Given the description of an element on the screen output the (x, y) to click on. 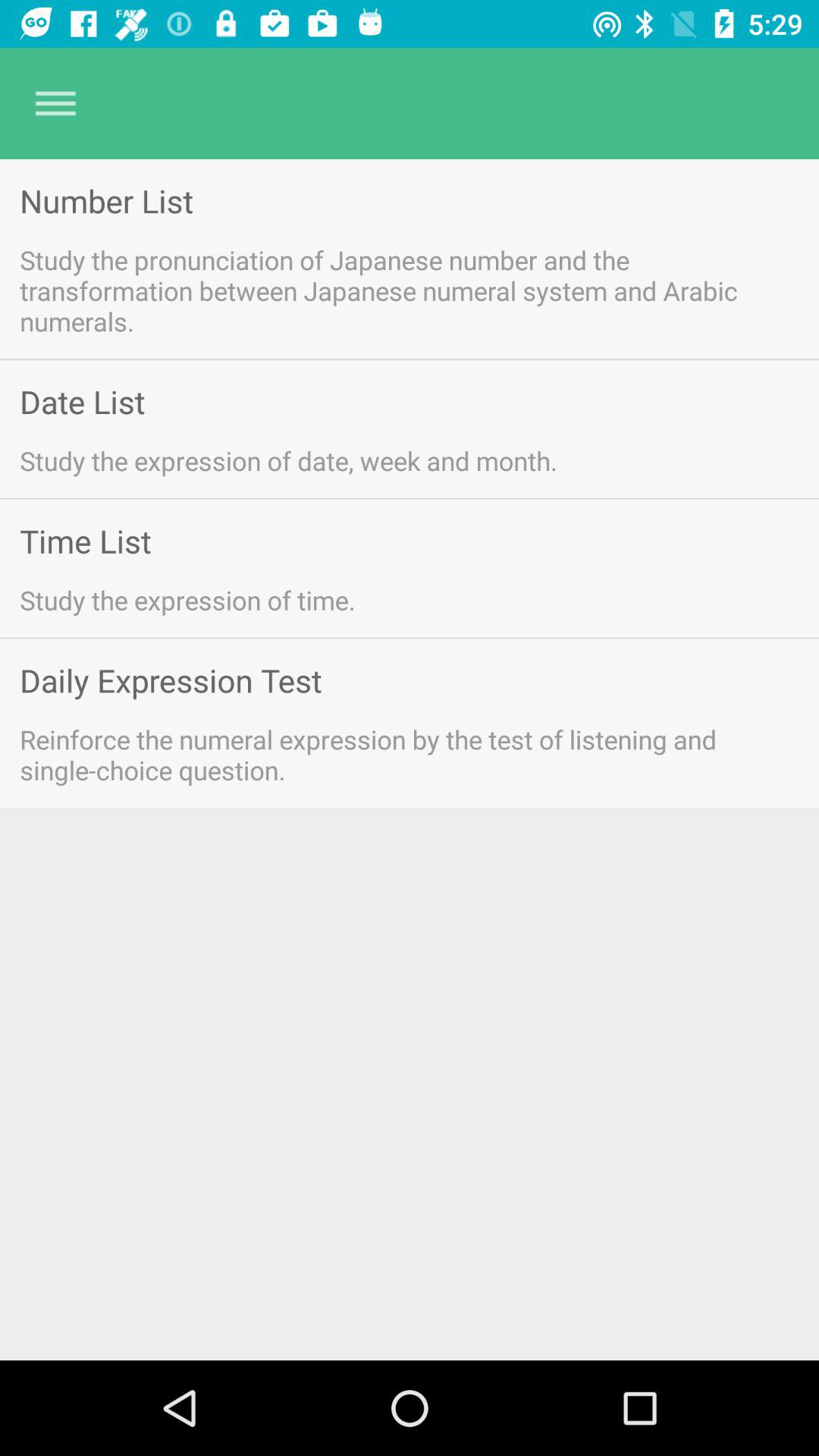
click the app above the study the expression app (85, 540)
